Given the description of an element on the screen output the (x, y) to click on. 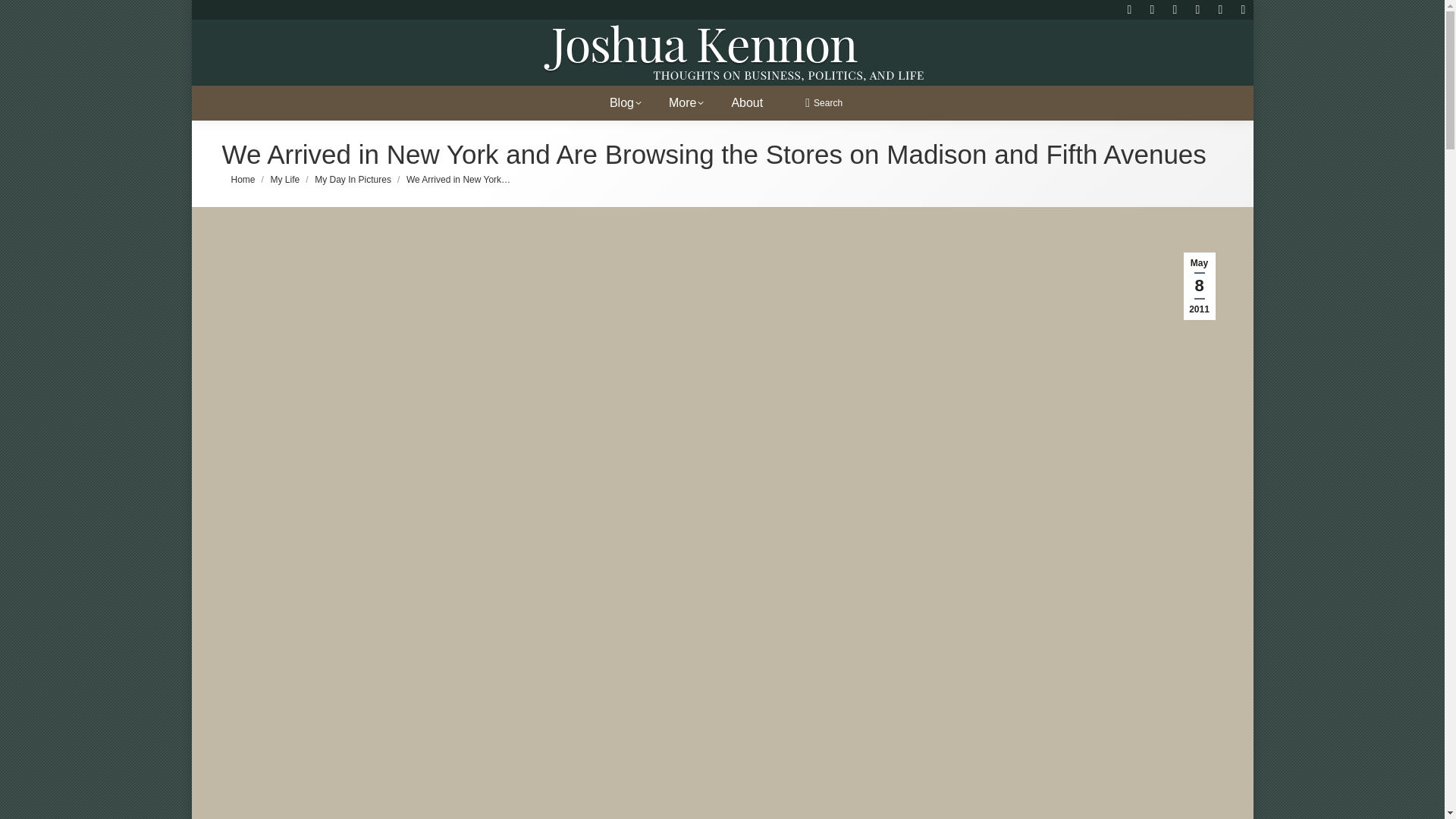
Instagram page opens in new window (1151, 9)
About (753, 97)
X page opens in new window (1242, 9)
More (692, 97)
Pinterest page opens in new window (1219, 9)
Home (242, 179)
My Life (284, 179)
Rss page opens in new window (1128, 9)
YouTube page opens in new window (1197, 9)
Facebook page opens in new window (1174, 9)
Blog (631, 97)
Rss page opens in new window (1128, 9)
Pinterest page opens in new window (1219, 9)
X page opens in new window (1242, 9)
YouTube page opens in new window (1197, 9)
